Given the description of an element on the screen output the (x, y) to click on. 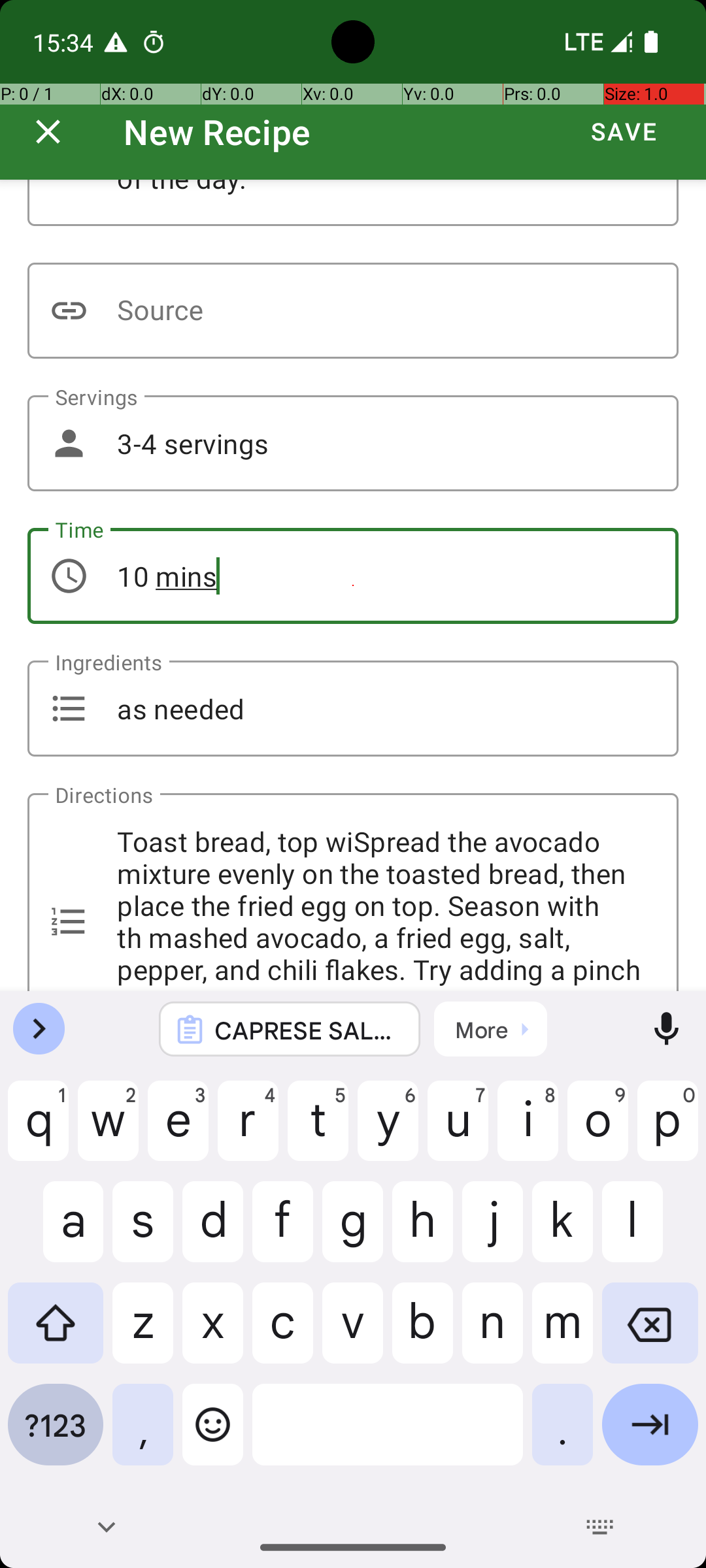
Source Element type: android.widget.EditText (352, 310)
10 mins Element type: android.widget.EditText (352, 575)
as needed Element type: android.widget.EditText (352, 708)
Toast bread, top wiSpread the avocado mixture evenly on the toasted bread, then place the fried egg on top. Season with
th mashed avocado, a fried egg, salt, pepper, and chili flakes. Try adding a pinch of your favorite spices for extra flavor. Element type: android.widget.EditText (352, 892)
CAPRESE SALAD SKEWERS  Servings: 1 serving Time: 45 mins  A quick and easy meal, perfect for busy weekdays.  Ingredients: - n/a  Directions: 1. Thread cherry tomatoes, basil leaves, and mozzarella balls onto skewers. Drizzle with balsamic glaze. Feel free to substitute with ingredients you have on hand.  Shared with https://play.google.com/store/apps/details?id=com.flauschcode.broccoli Element type: android.widget.TextView (306, 1029)
